Given the description of an element on the screen output the (x, y) to click on. 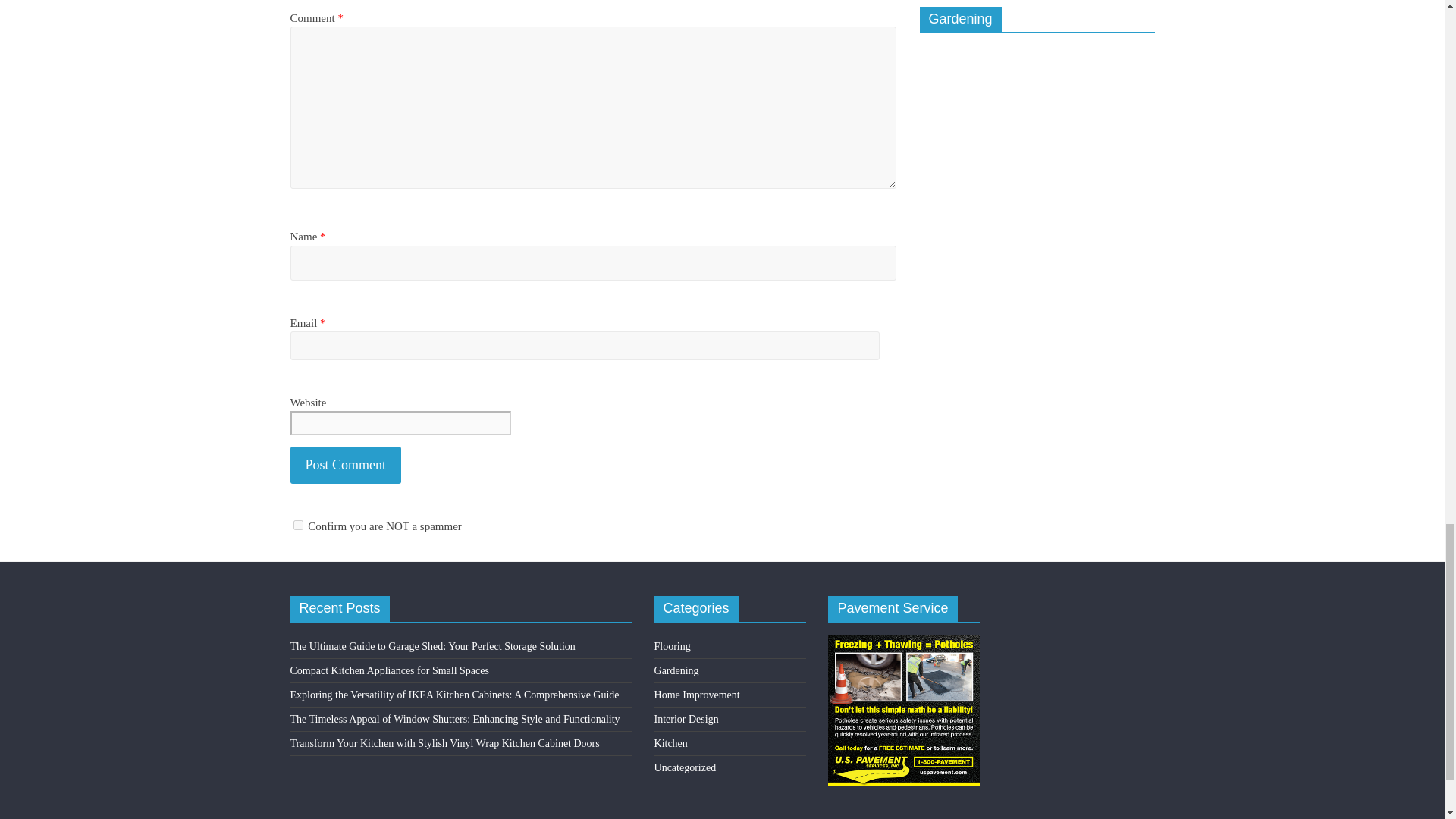
Post Comment (345, 465)
Post Comment (345, 465)
on (297, 524)
